Given the description of an element on the screen output the (x, y) to click on. 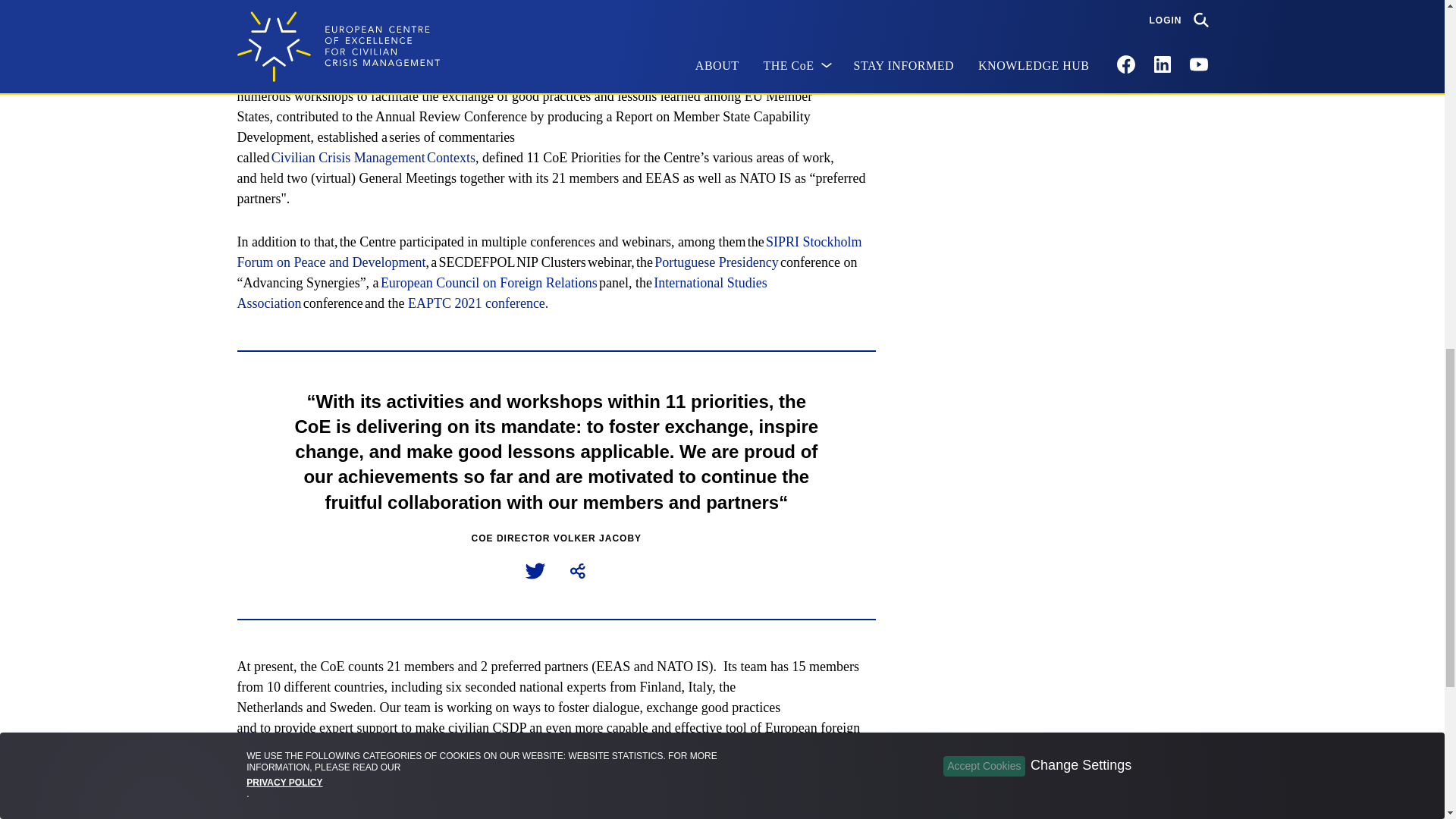
Twitter (545, 563)
EAPTC 2021 conference. (477, 303)
Portuguese Presidency (715, 262)
European Council on Foreign Relations (488, 282)
Previous article (295, 809)
SIPRI Stockholm Forum on Peace and Development (548, 252)
Next article (829, 809)
International Studies Association (501, 293)
CSDP Mentoring Programme for Women (686, 75)
